Given the description of an element on the screen output the (x, y) to click on. 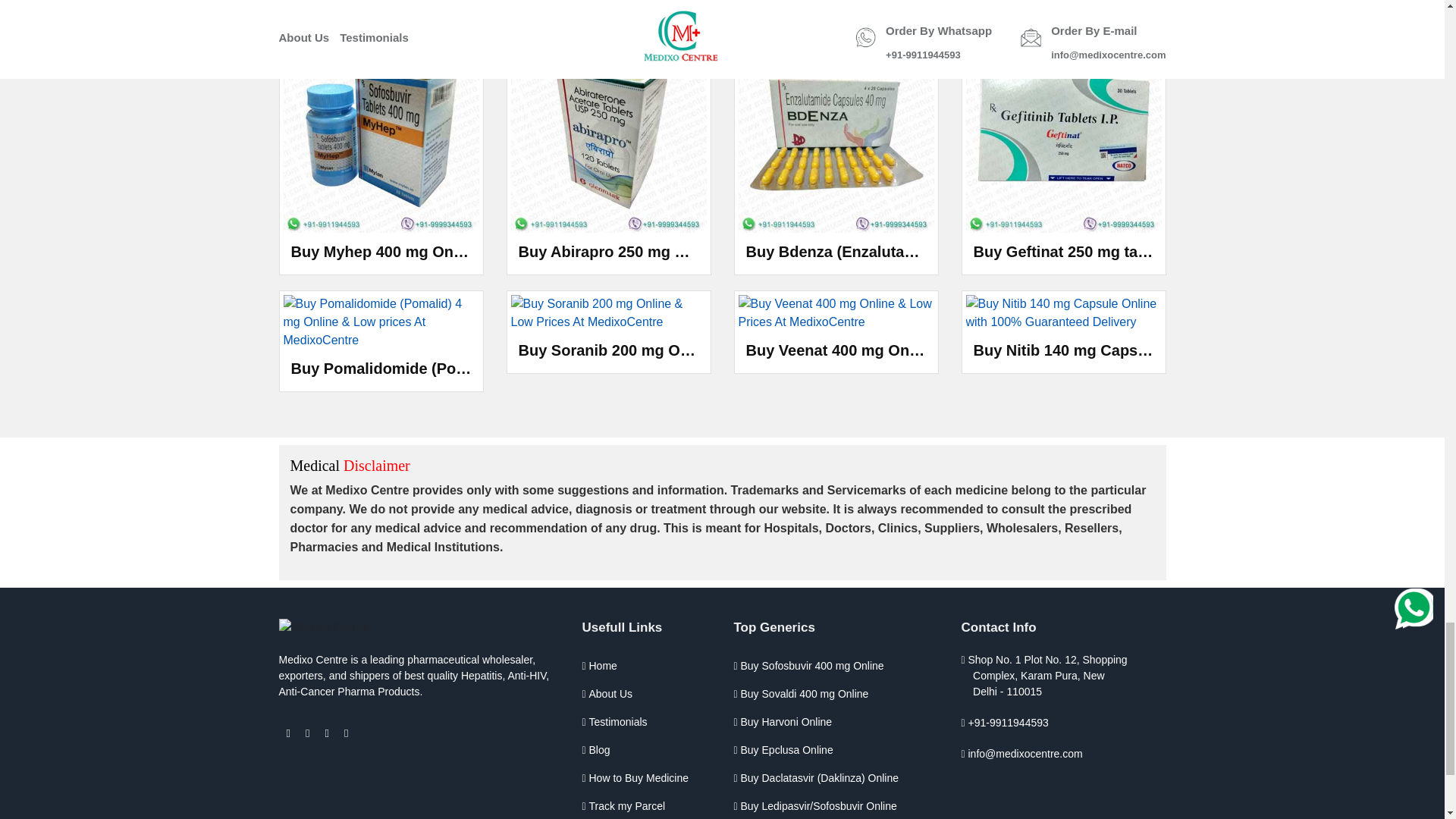
how-to-buy-medicine (645, 778)
track-my-parcel (645, 805)
testimonials (645, 722)
Buy Abirapro 250 mg Online, Free Doorstep Delivery - Medixo (608, 134)
home (645, 665)
blog (645, 750)
about us (645, 694)
